Given the description of an element on the screen output the (x, y) to click on. 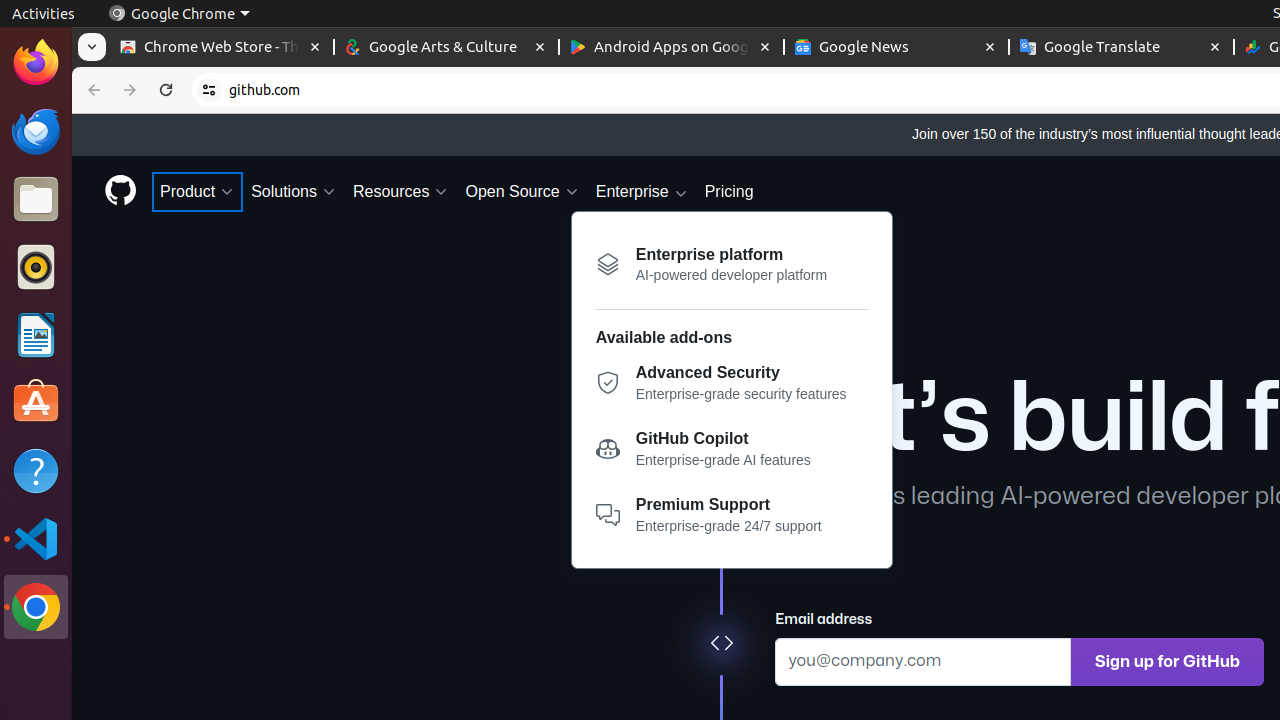
Rhythmbox Element type: push-button (36, 267)
Resources Element type: push-button (401, 191)
Google Arts & Culture - Memory usage - 60.0 MB Element type: page-tab (446, 47)
